Given the description of an element on the screen output the (x, y) to click on. 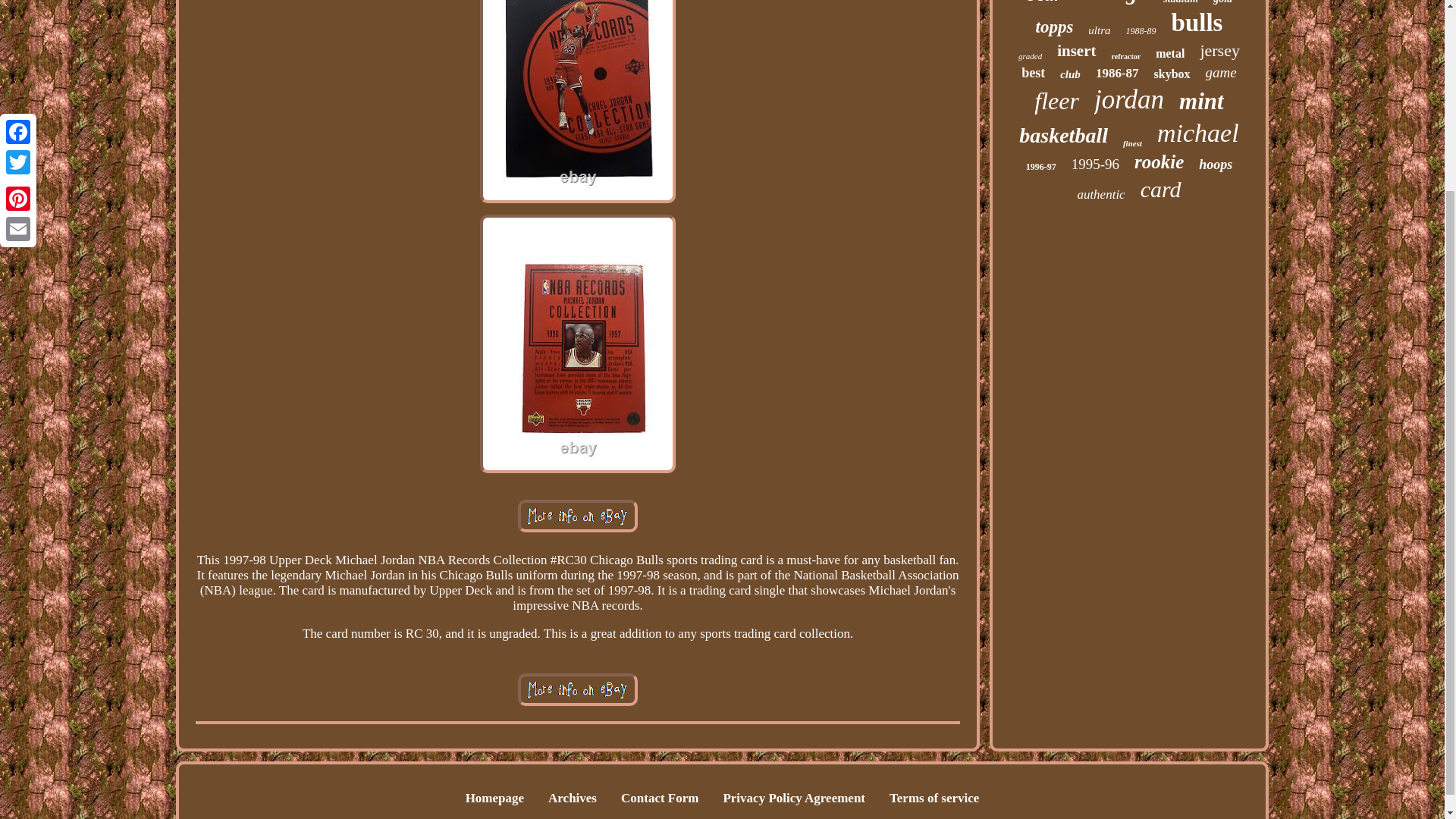
topps (1054, 26)
best (1033, 73)
gold (1221, 2)
graded (1029, 55)
jersey (1219, 50)
metal (1170, 53)
club (1069, 74)
1988-89 (1140, 30)
stadium (1180, 2)
skybox (1172, 74)
star (1044, 2)
1986-87 (1117, 73)
insert (1076, 50)
bulls (1197, 22)
ultra (1098, 30)
